Given the description of an element on the screen output the (x, y) to click on. 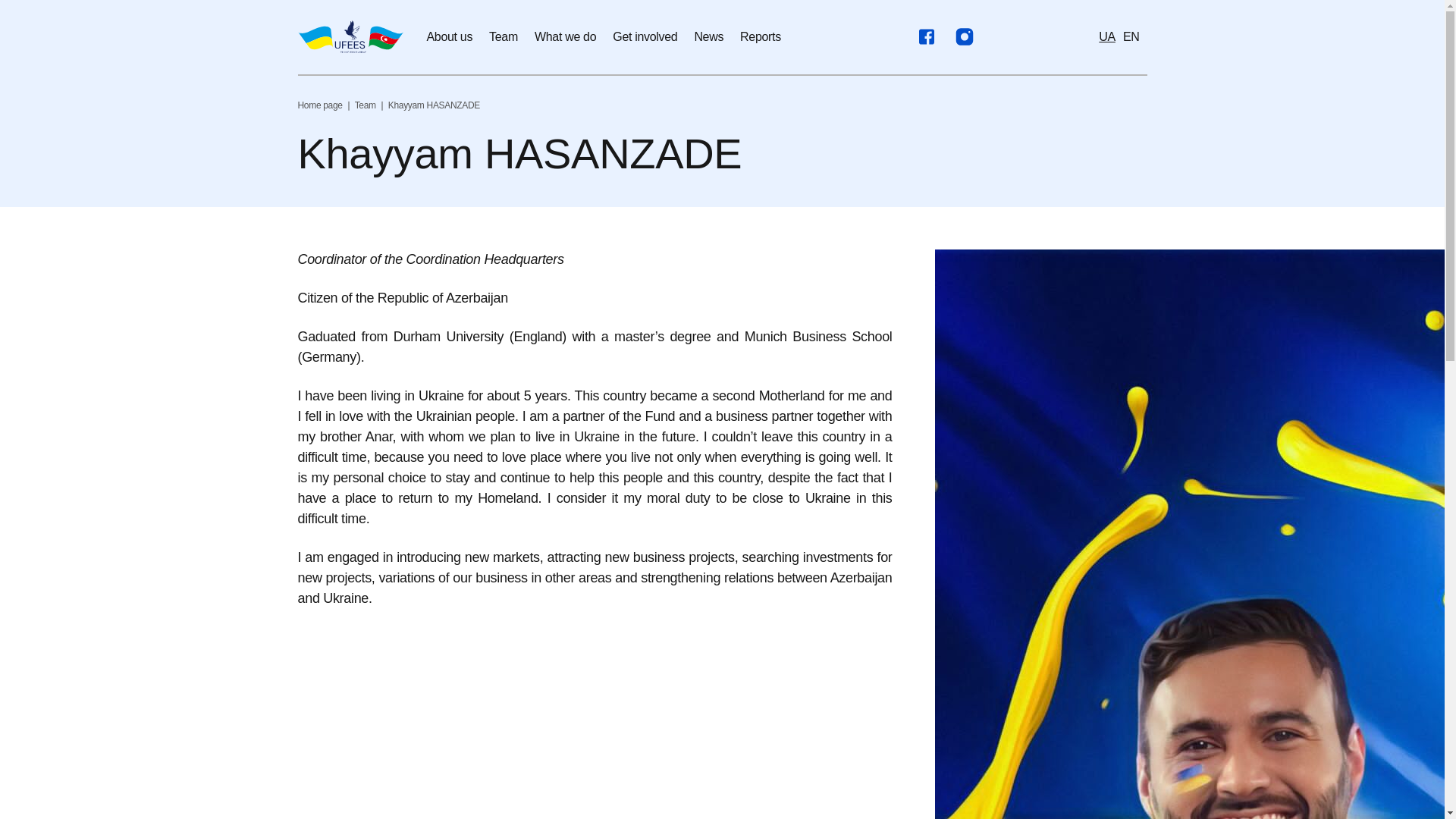
What we do (564, 36)
Reports (759, 36)
Team (503, 36)
Home page (319, 105)
News (708, 36)
Get involved (644, 36)
Team (365, 105)
UA (1107, 36)
About us (448, 36)
